Given the description of an element on the screen output the (x, y) to click on. 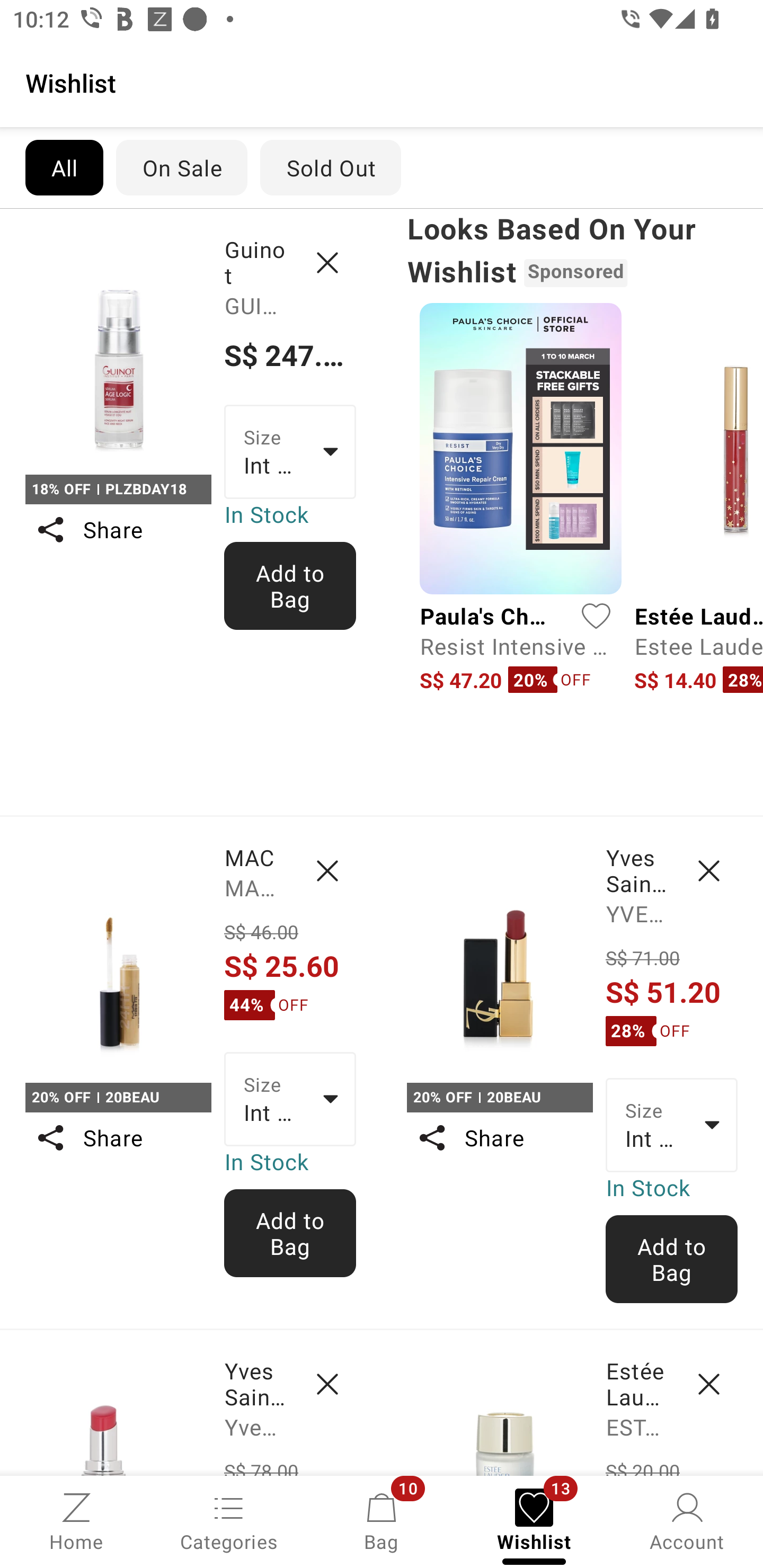
Wishlist (381, 82)
All (64, 167)
On Sale (181, 167)
Sold Out (330, 167)
Size Int One Size (290, 451)
Share (118, 529)
Add to Bag (290, 586)
Size Int One Size (290, 1099)
Size Int One Size (671, 1125)
Share (118, 1137)
Share (499, 1137)
Add to Bag (290, 1232)
Add to Bag (671, 1259)
Home (76, 1519)
Categories (228, 1519)
Bag, 10 new notifications Bag (381, 1519)
Account (686, 1519)
